Given the description of an element on the screen output the (x, y) to click on. 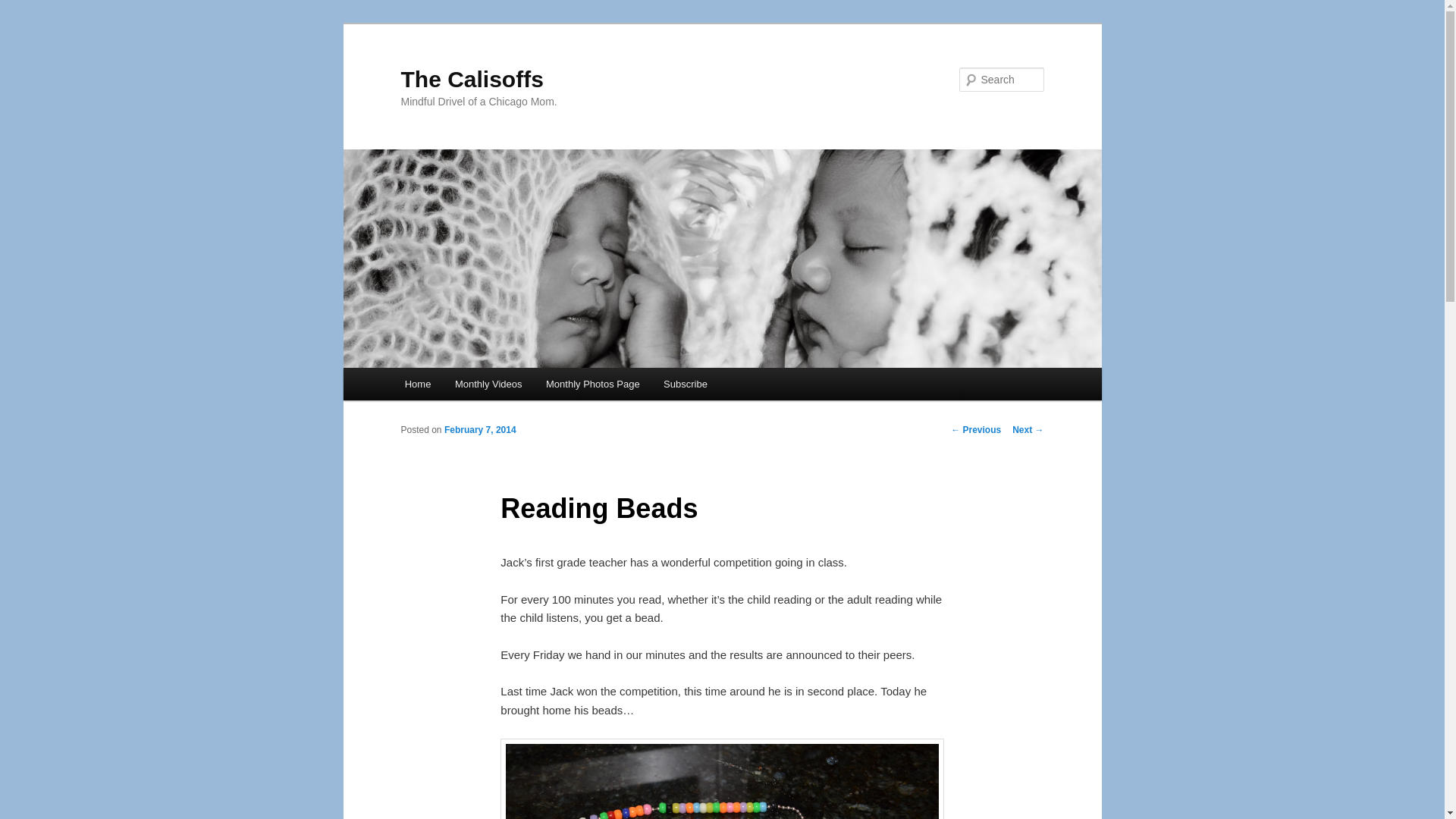
8:38 pm (480, 429)
Search (24, 8)
The Calisoffs (471, 78)
Monthly Photos Page (592, 383)
Home (417, 383)
Monthly Videos (488, 383)
